Given the description of an element on the screen output the (x, y) to click on. 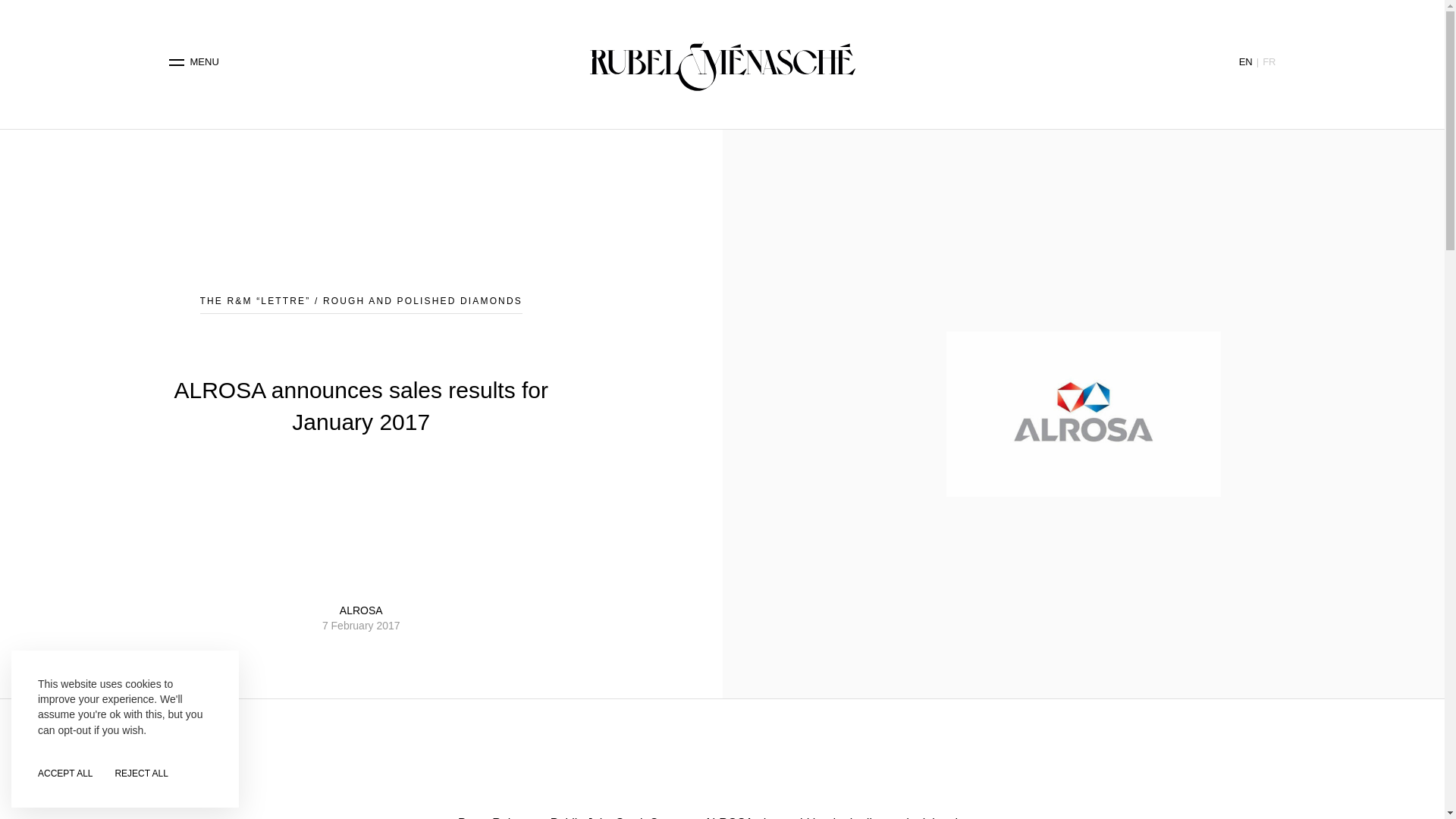
MENU (194, 61)
REJECT ALL (141, 773)
EN (1245, 61)
ACCEPT ALL (65, 773)
FR (1268, 61)
